Given the description of an element on the screen output the (x, y) to click on. 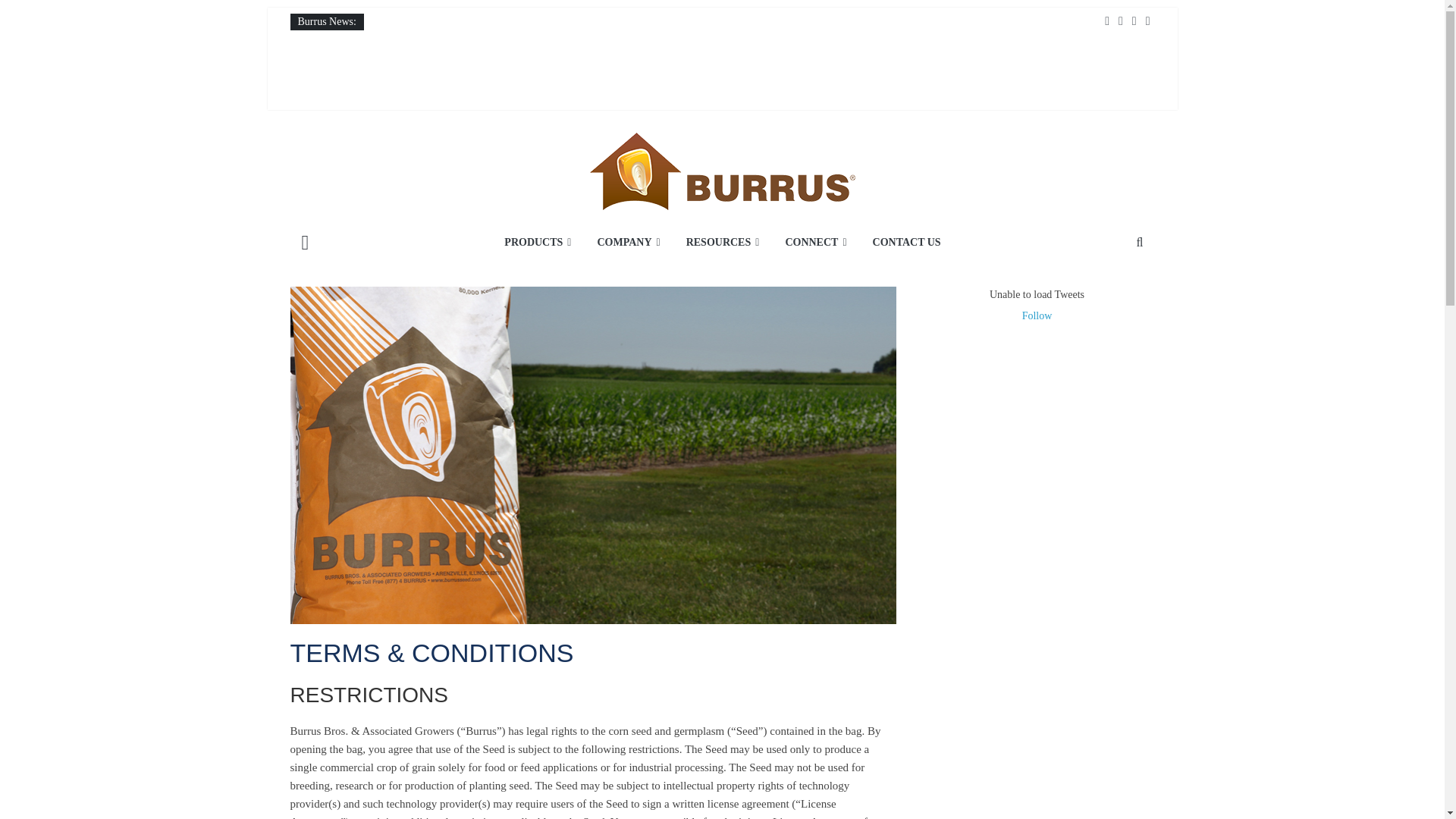
RESOURCES (722, 243)
COMPANY (627, 243)
CONNECT (814, 243)
PRODUCTS (536, 243)
